Given the description of an element on the screen output the (x, y) to click on. 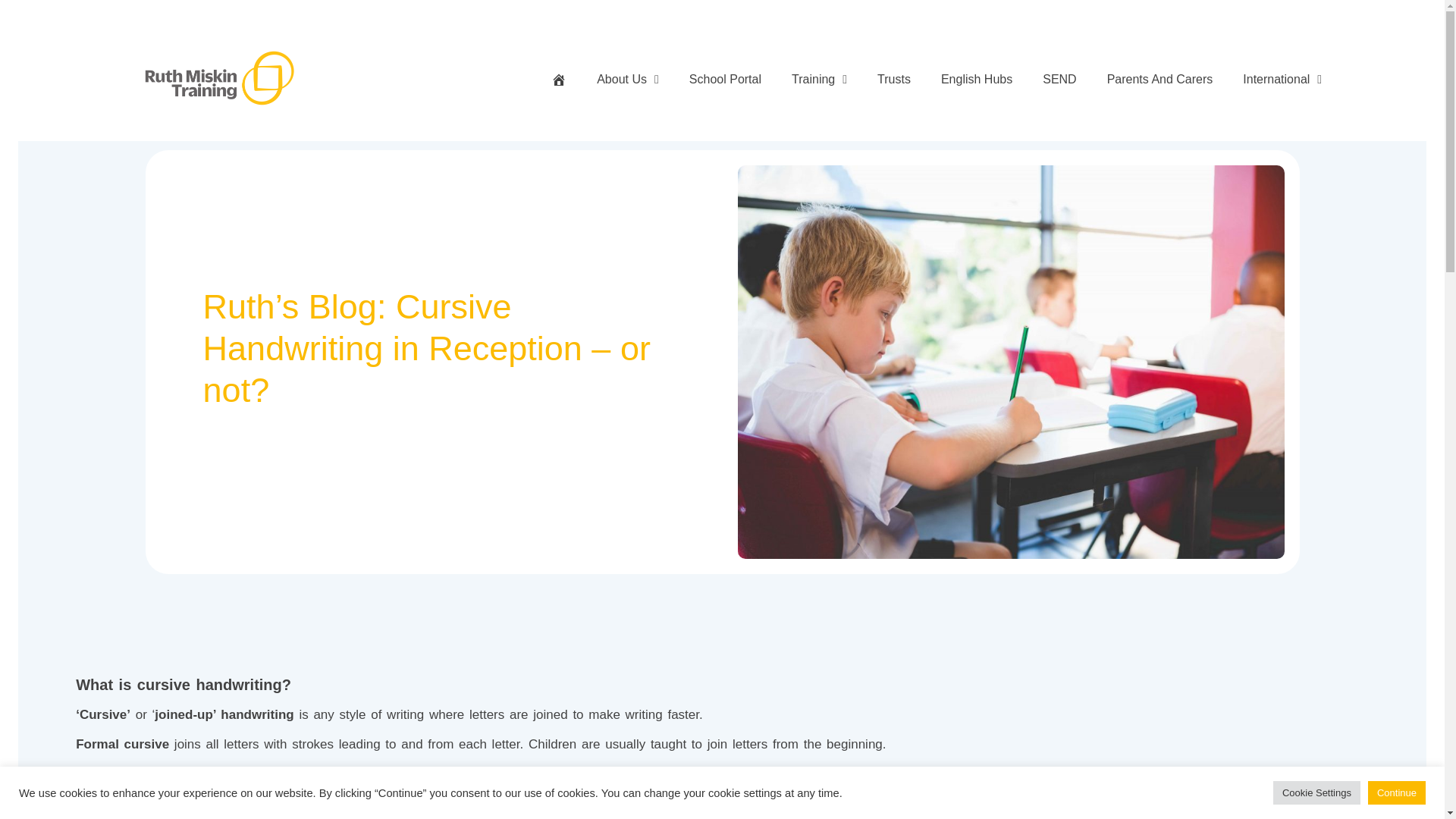
School Portal (724, 79)
About Us (627, 79)
Parents And Carers (1159, 79)
Trusts (894, 79)
English Hubs (975, 79)
International (1282, 79)
SEND (1058, 79)
Training (819, 79)
